Given the description of an element on the screen output the (x, y) to click on. 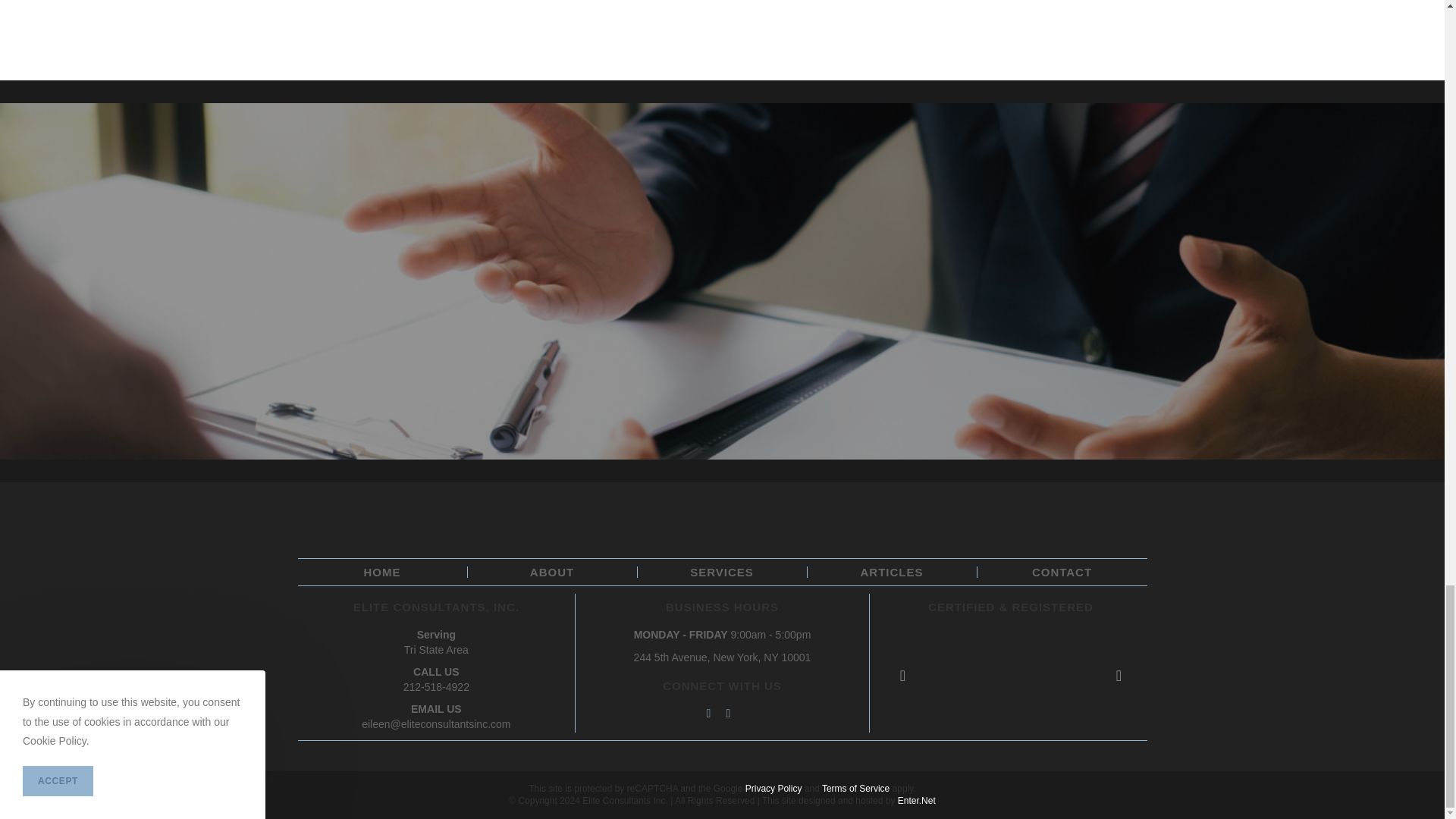
ARTICLES (891, 571)
HOME (382, 571)
Services 3 (427, 17)
SERVICES (722, 571)
CONTACT (1062, 571)
ABOUT (551, 571)
